Given the description of an element on the screen output the (x, y) to click on. 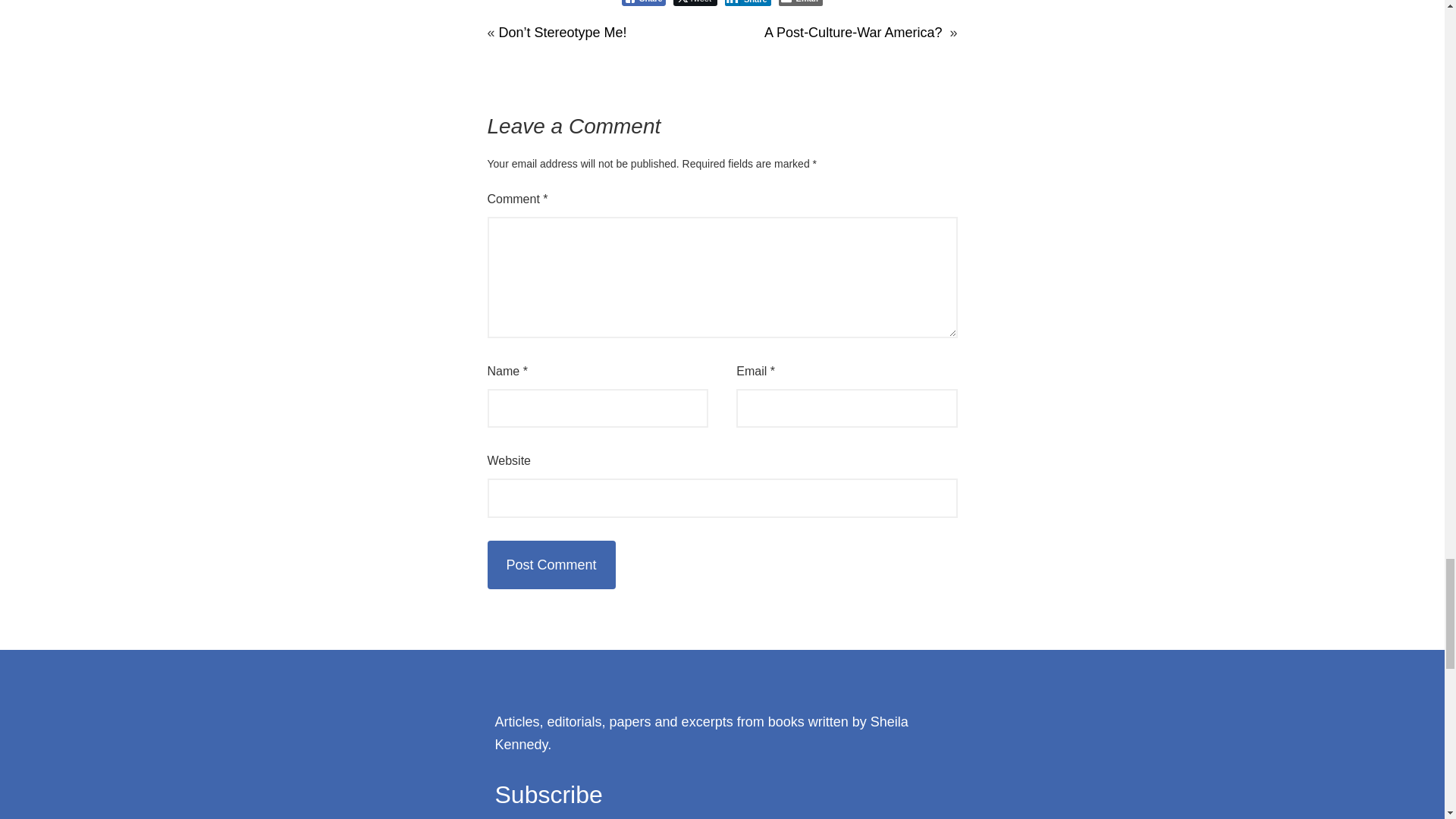
Share (643, 2)
Post Comment (550, 564)
Post Comment (550, 564)
Tweet (694, 2)
Email (800, 2)
A Post-Culture-War America? (853, 32)
Share (748, 2)
